Given the description of an element on the screen output the (x, y) to click on. 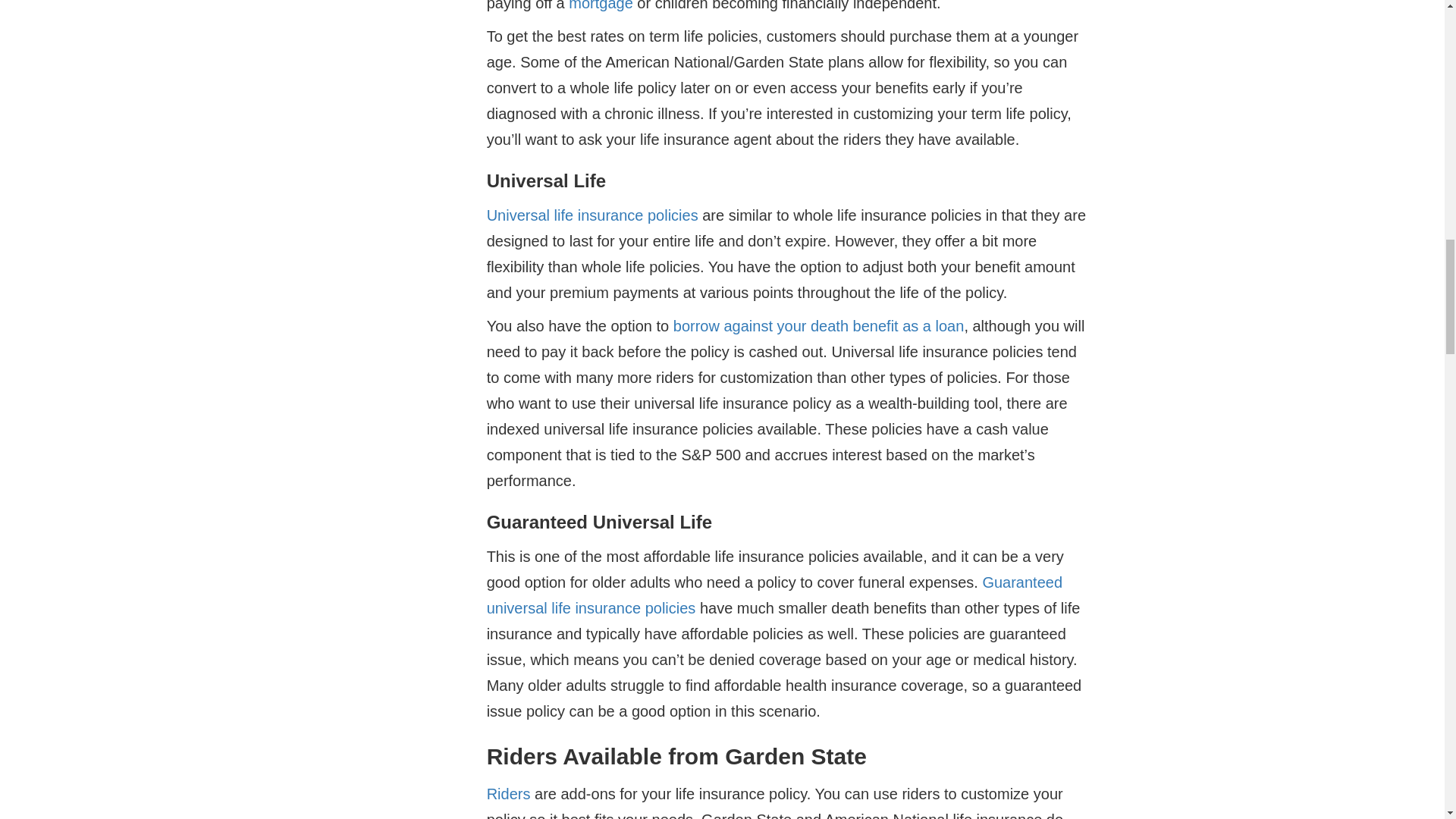
Universal life insurance policies (592, 215)
mortgage (601, 5)
Riders (508, 793)
borrow against your death benefit as a loan (817, 325)
Guaranteed universal life insurance policies (774, 595)
